Given the description of an element on the screen output the (x, y) to click on. 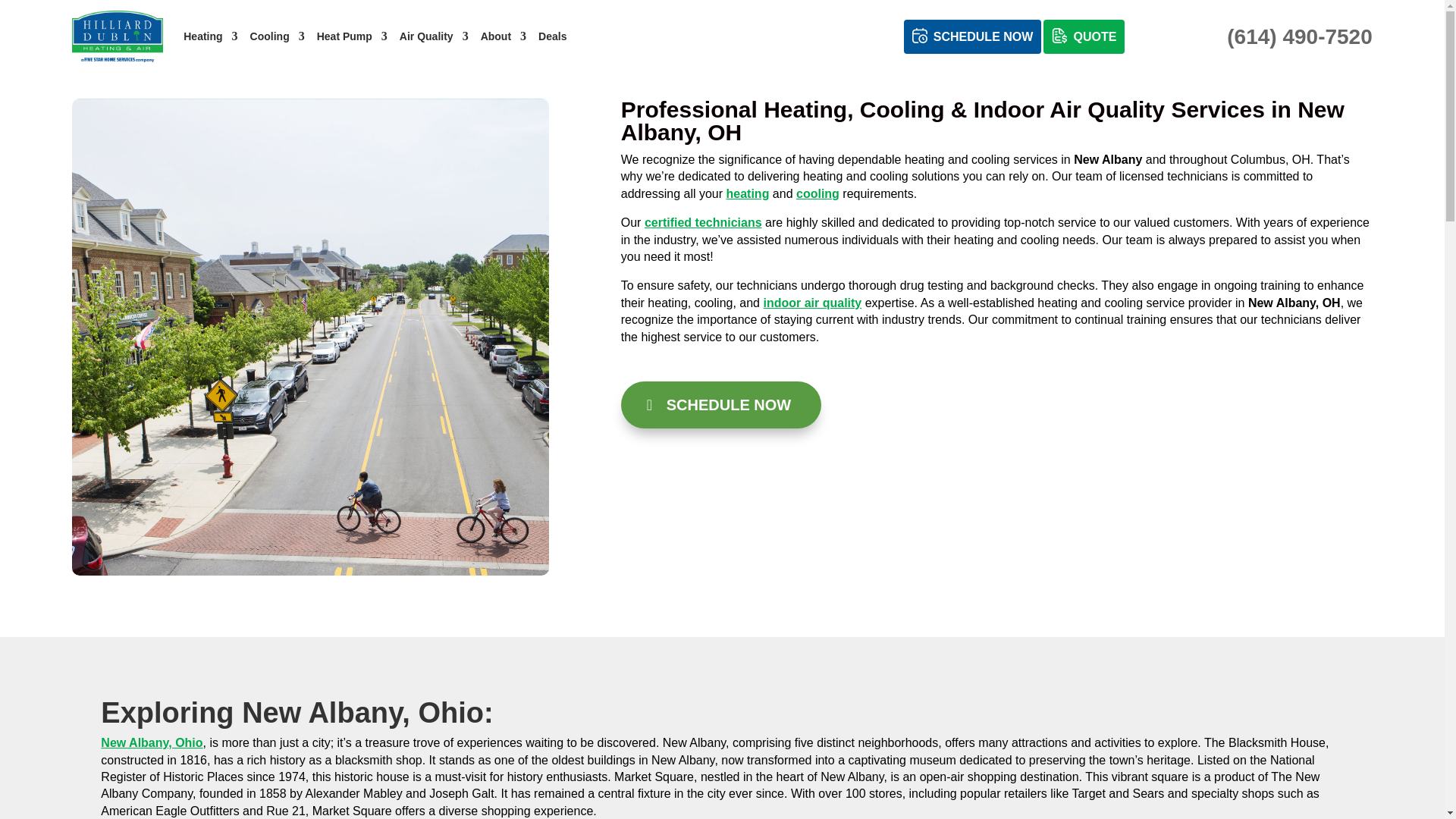
Heating (210, 36)
Air Quality (433, 36)
About (502, 36)
Cooling (277, 36)
Heat Pump (352, 36)
Deals (552, 36)
